Given the description of an element on the screen output the (x, y) to click on. 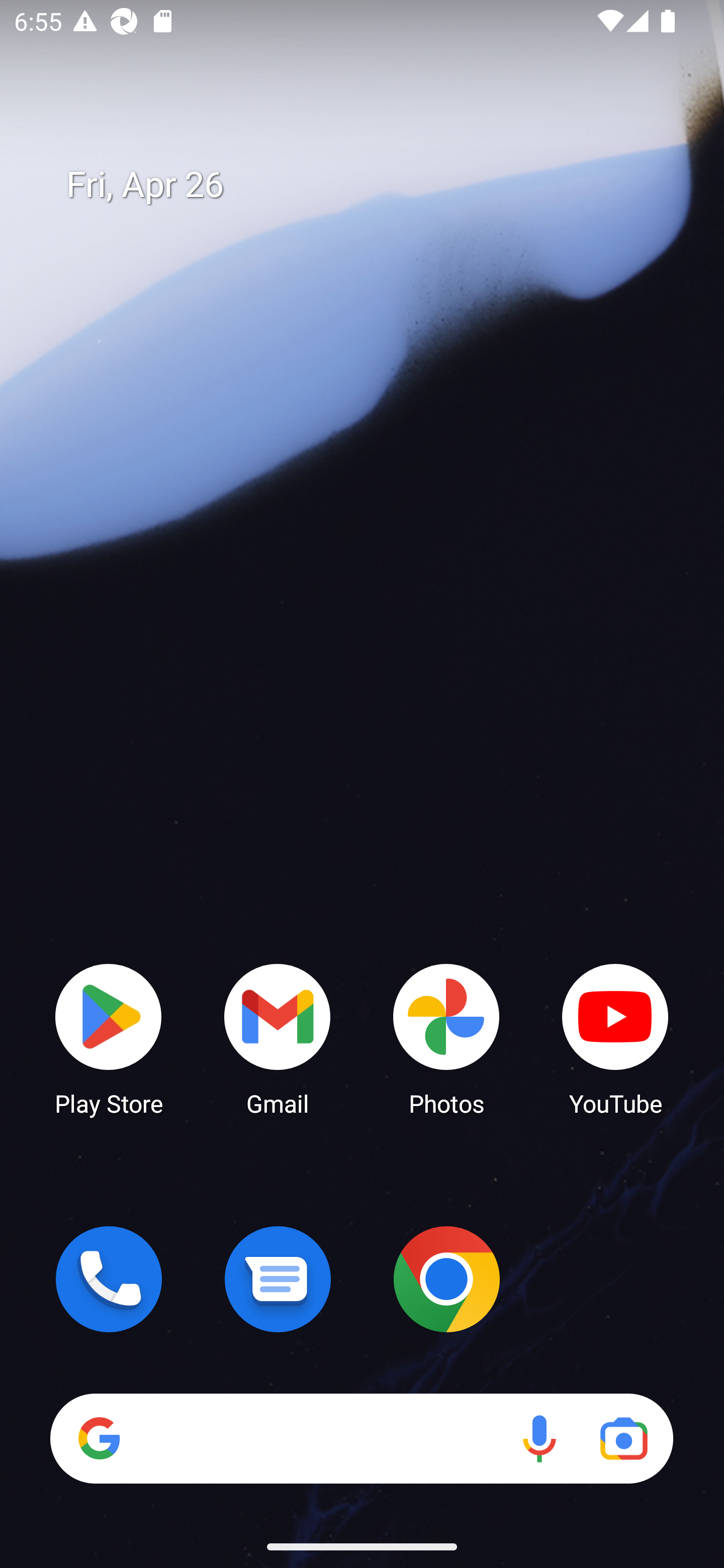
Fri, Apr 26 (375, 184)
Play Store (108, 1038)
Gmail (277, 1038)
Photos (445, 1038)
YouTube (615, 1038)
Phone (108, 1279)
Messages (277, 1279)
Chrome (446, 1279)
Search Voice search Google Lens (361, 1438)
Voice search (539, 1438)
Google Lens (623, 1438)
